Given the description of an element on the screen output the (x, y) to click on. 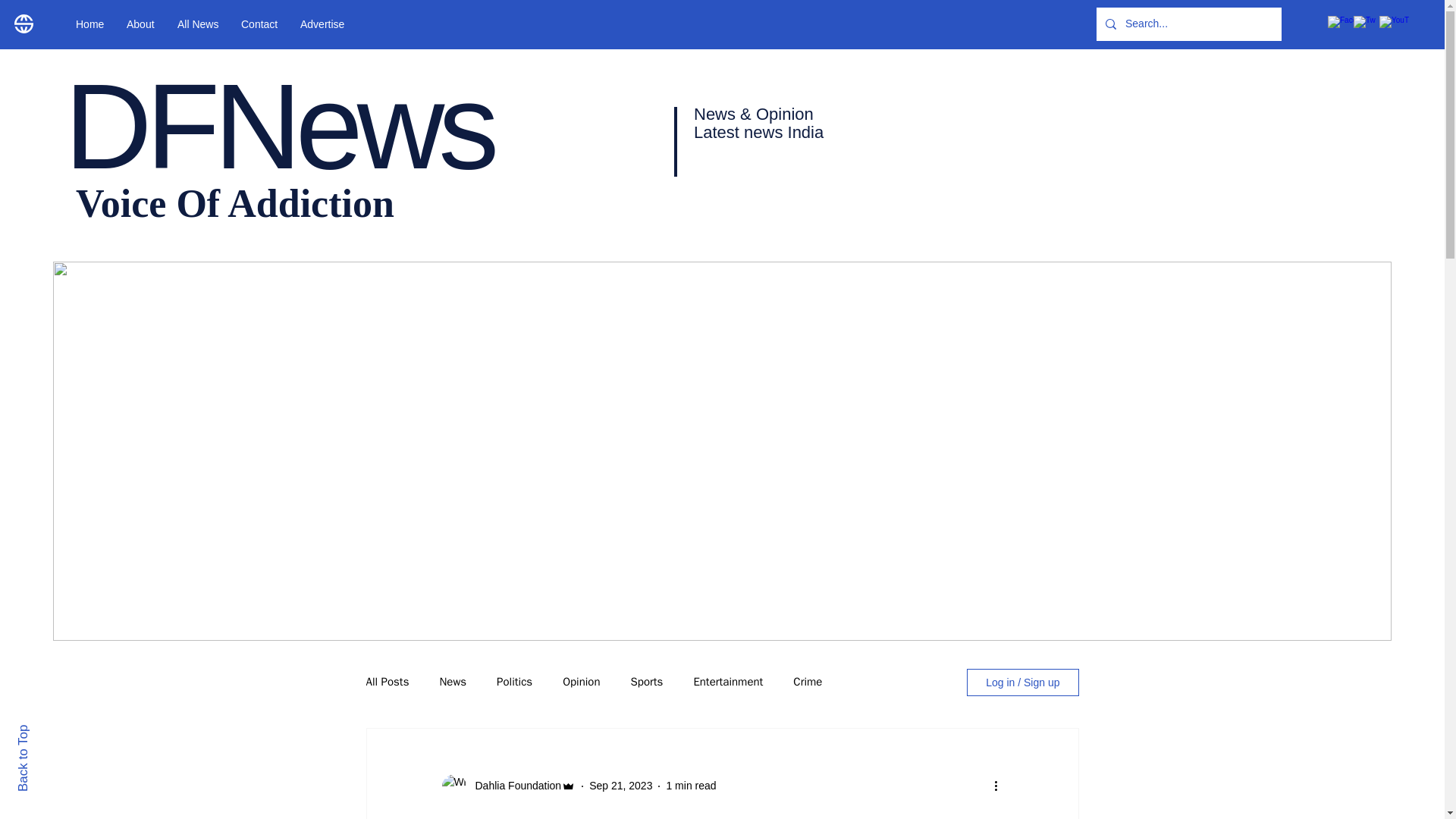
Entertainment (727, 681)
Advertise (321, 24)
Opinion (580, 681)
Dahlia Foundation (512, 785)
Contact (259, 24)
Crime (807, 681)
Home (89, 24)
Sep 21, 2023 (620, 785)
Politics (514, 681)
1 min read (690, 785)
All News (197, 24)
About (140, 24)
Sports (646, 681)
All Posts (387, 681)
DFNews (278, 126)
